Given the description of an element on the screen output the (x, y) to click on. 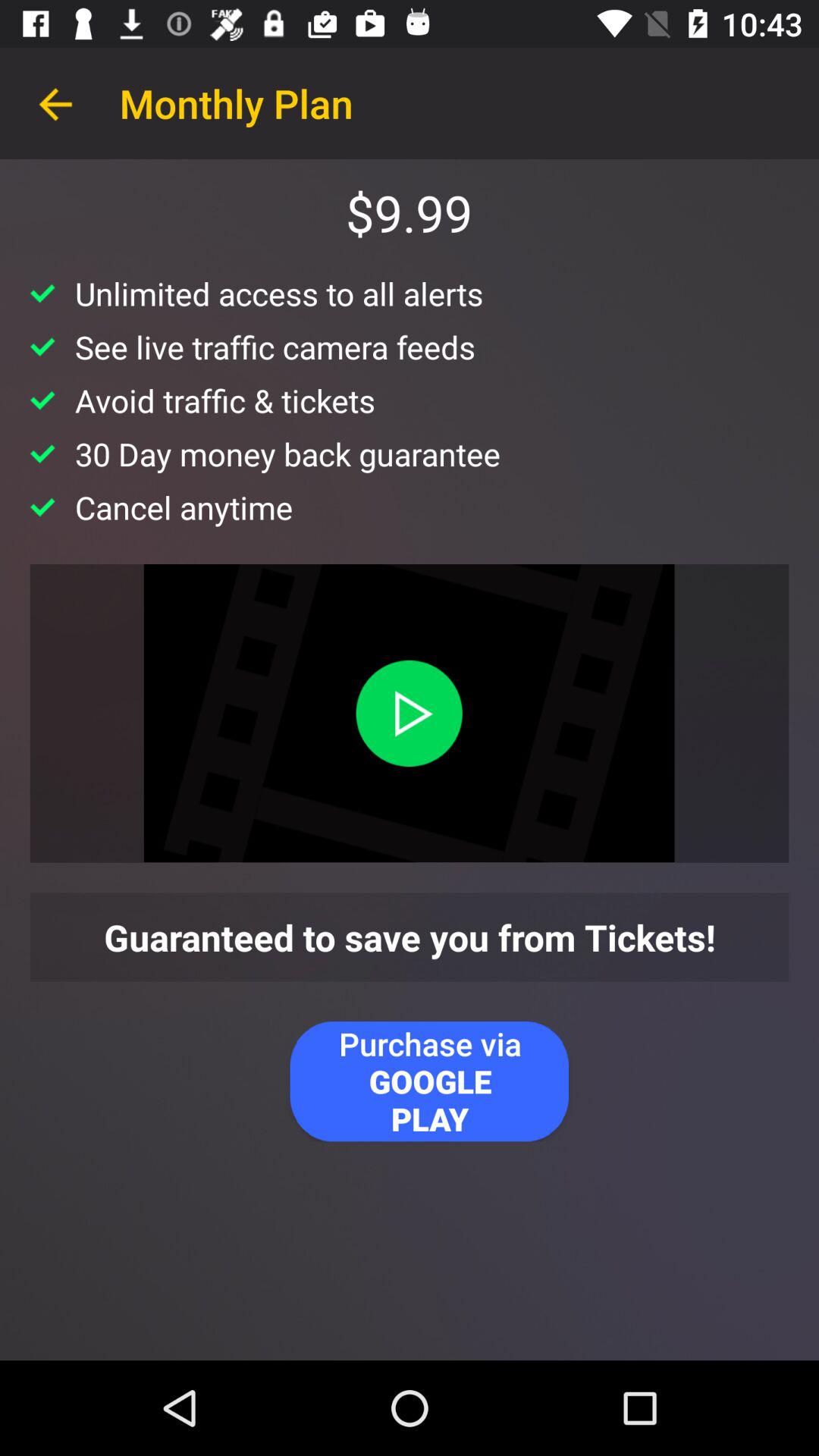
turn off item next to monthly plan item (55, 103)
